Given the description of an element on the screen output the (x, y) to click on. 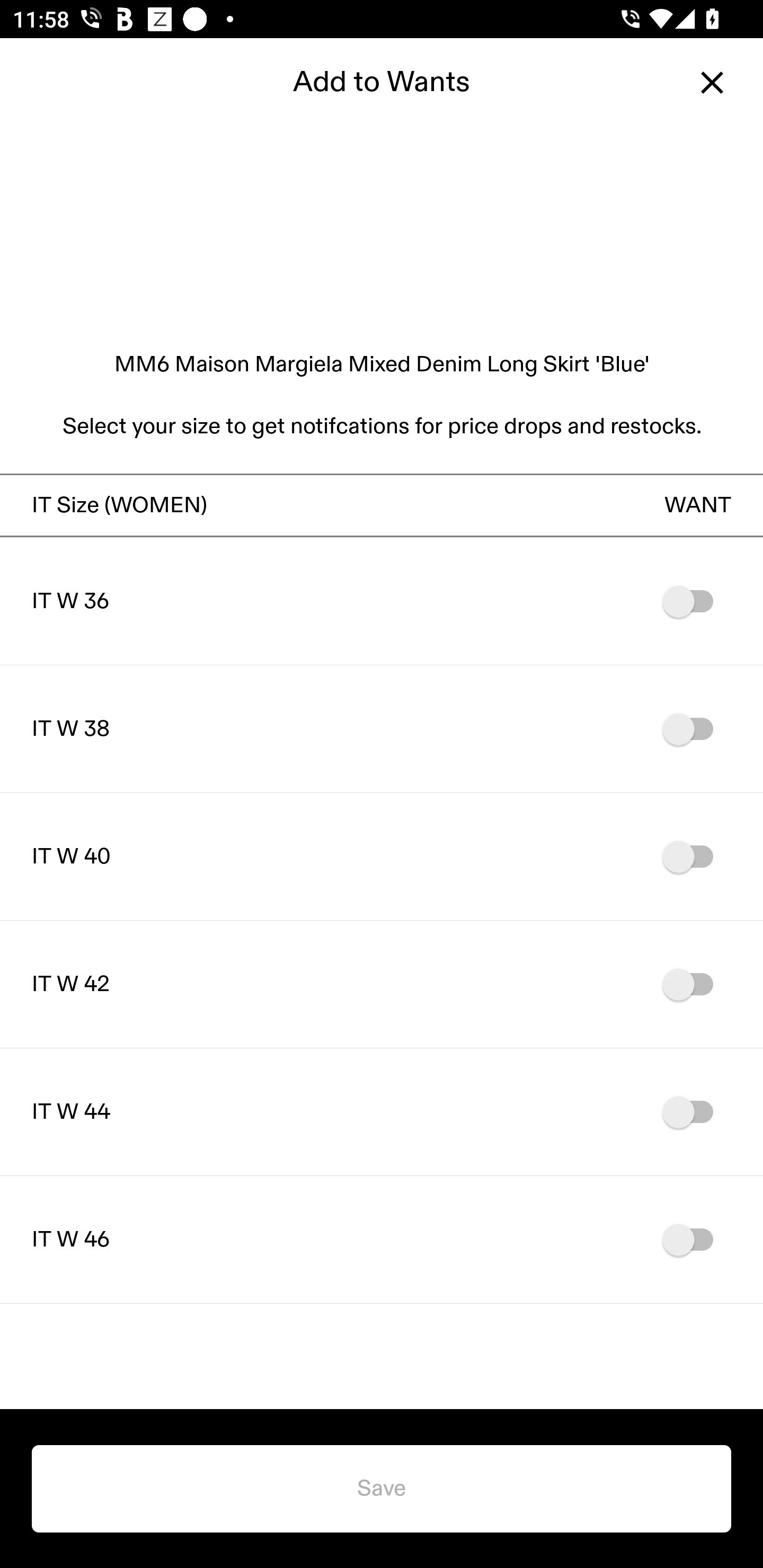
Save (381, 1488)
